Given the description of an element on the screen output the (x, y) to click on. 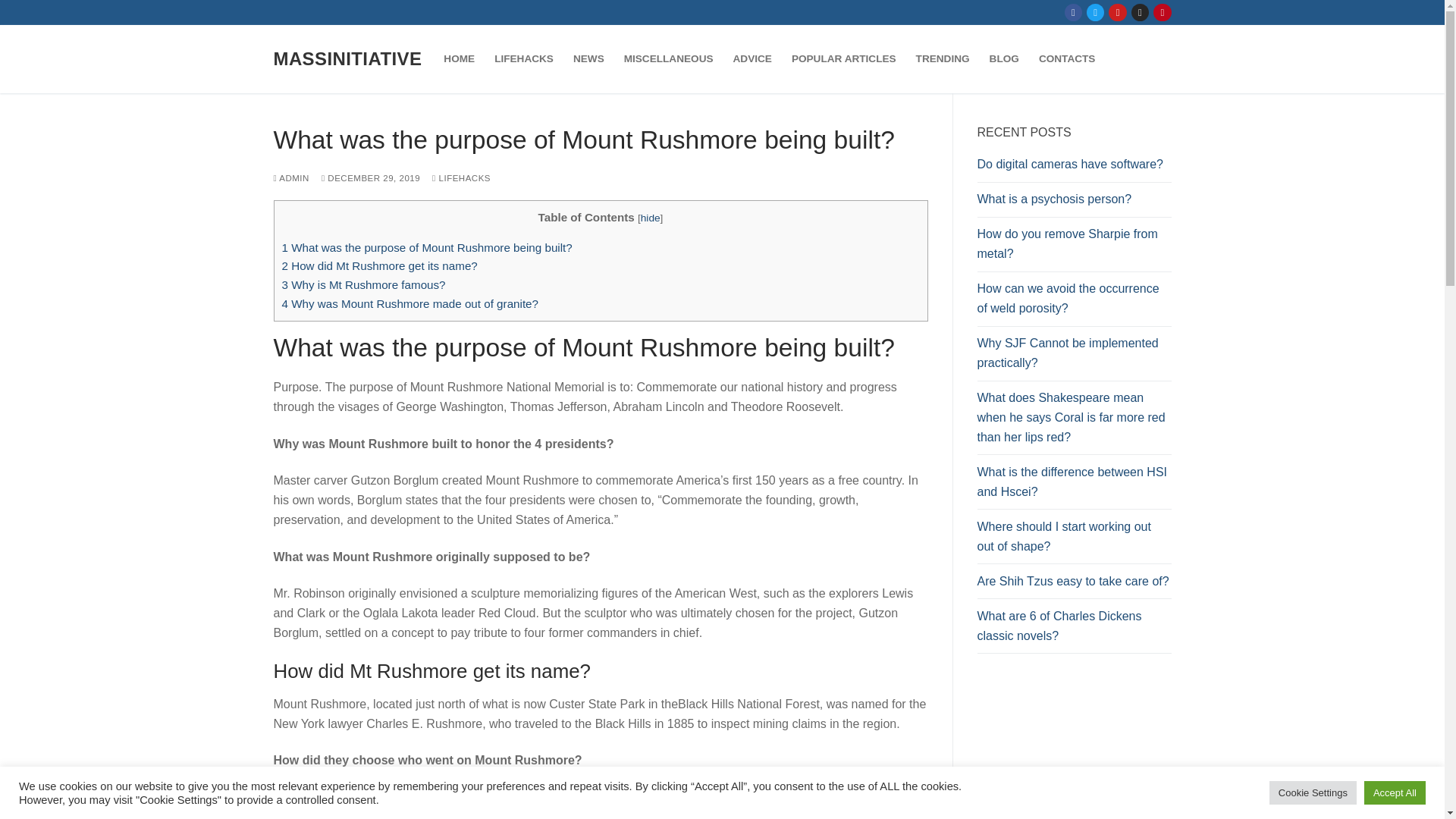
Do digital cameras have software? (1073, 167)
Youtube (1117, 12)
NEWS (588, 59)
What is a psychosis person? (1073, 203)
BLOG (1004, 59)
MASSINITIATIVE (347, 58)
Pinterest (1162, 12)
POPULAR ARTICLES (843, 59)
CONTACTS (1067, 59)
Instagram (1139, 12)
